Given the description of an element on the screen output the (x, y) to click on. 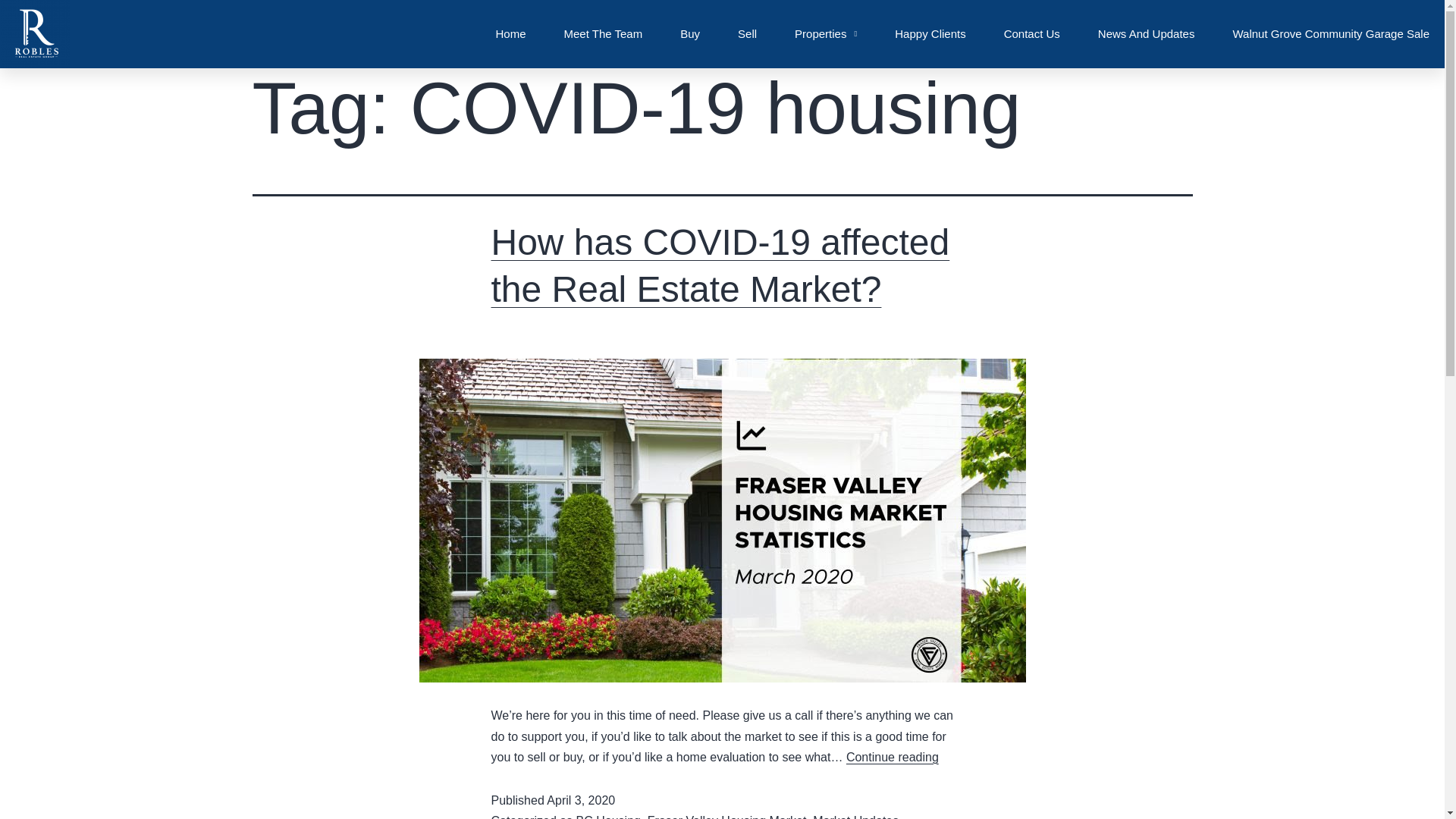
robles-logo-removebg-preview (35, 33)
Meet The Team (603, 33)
News And Updates (1146, 33)
Properties (825, 33)
Walnut Grove Community Garage Sale (1330, 33)
Happy Clients (930, 33)
